Given the description of an element on the screen output the (x, y) to click on. 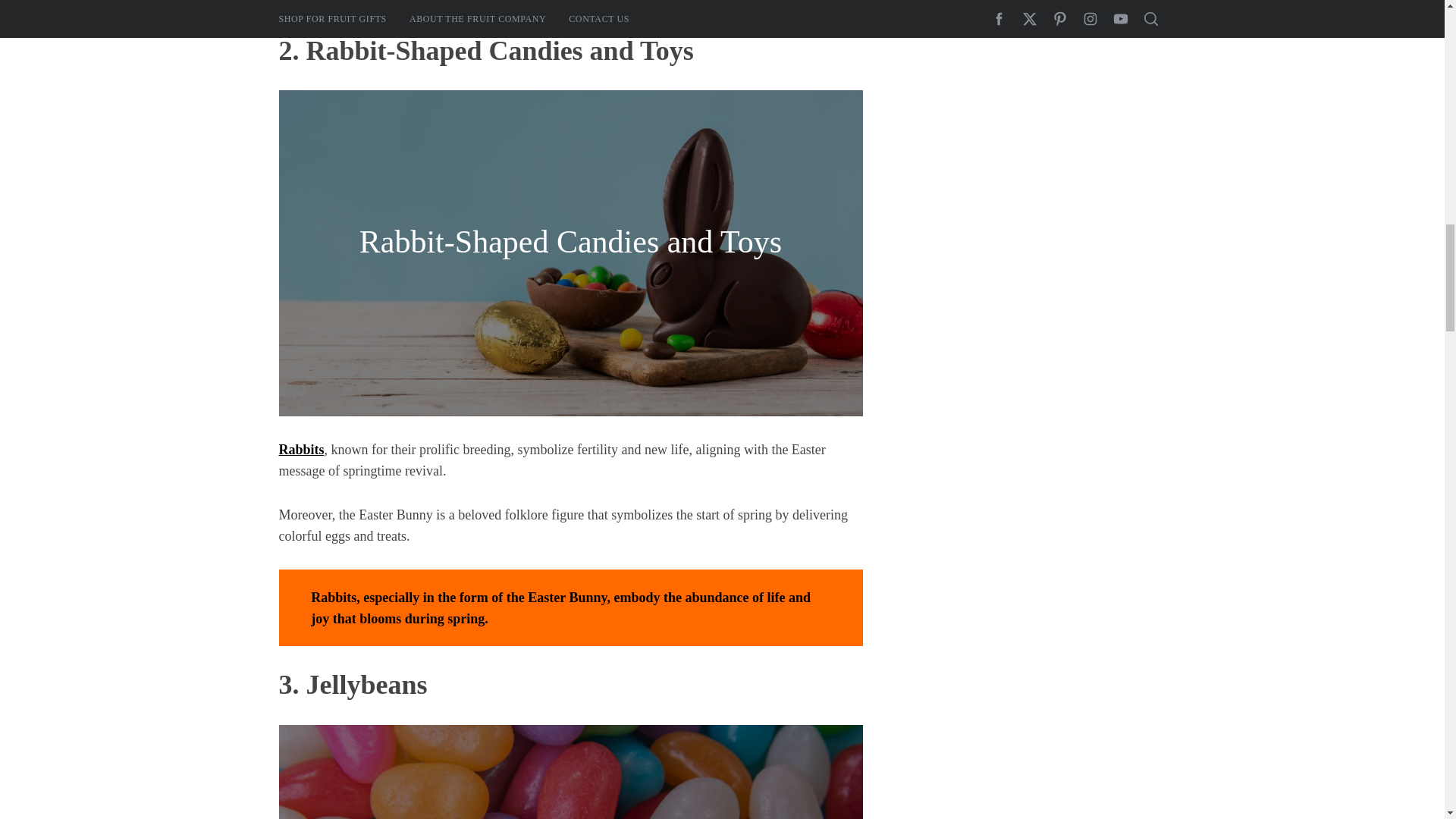
Rabbits (301, 449)
